Given the description of an element on the screen output the (x, y) to click on. 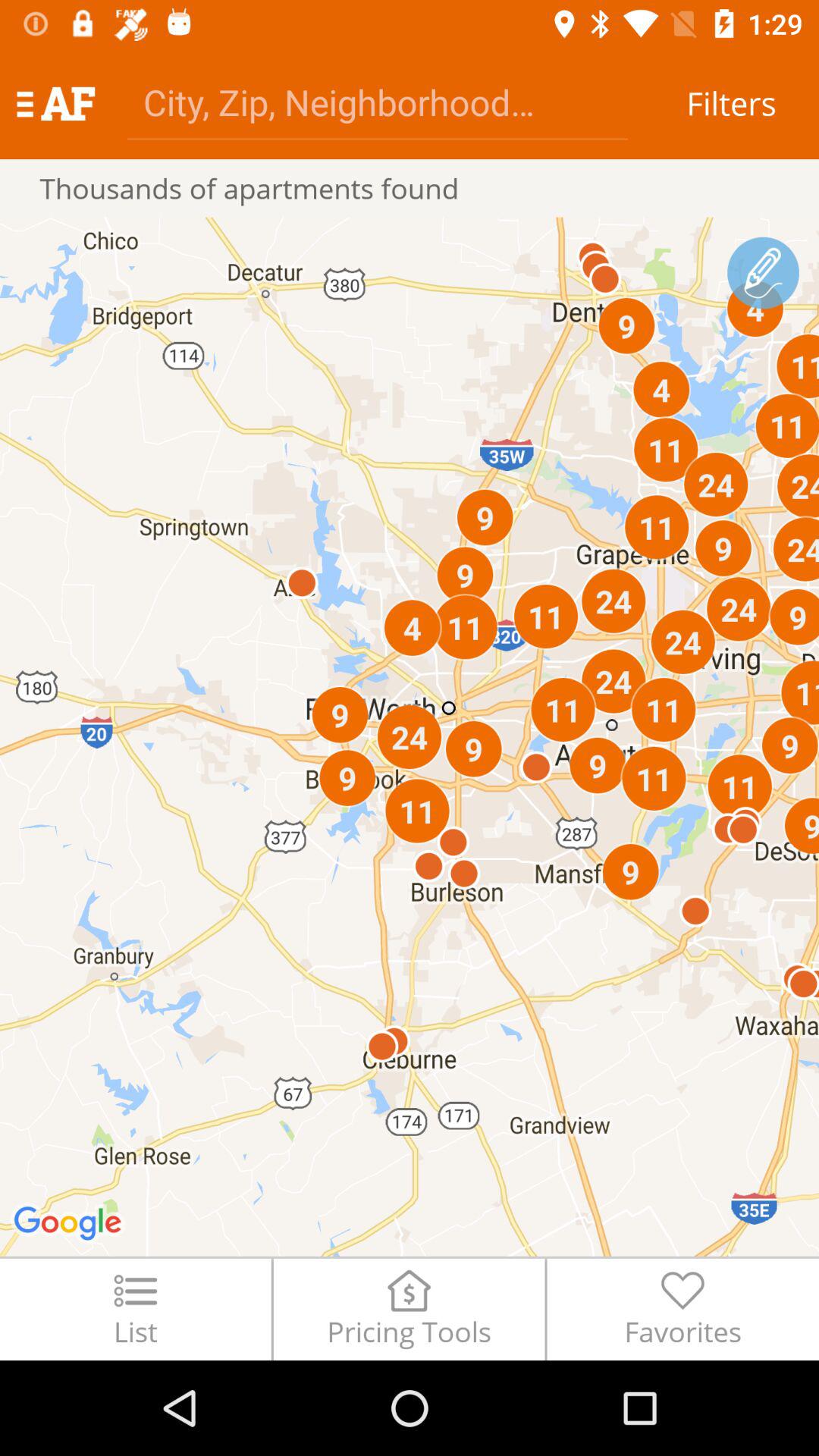
scroll to list icon (135, 1309)
